Given the description of an element on the screen output the (x, y) to click on. 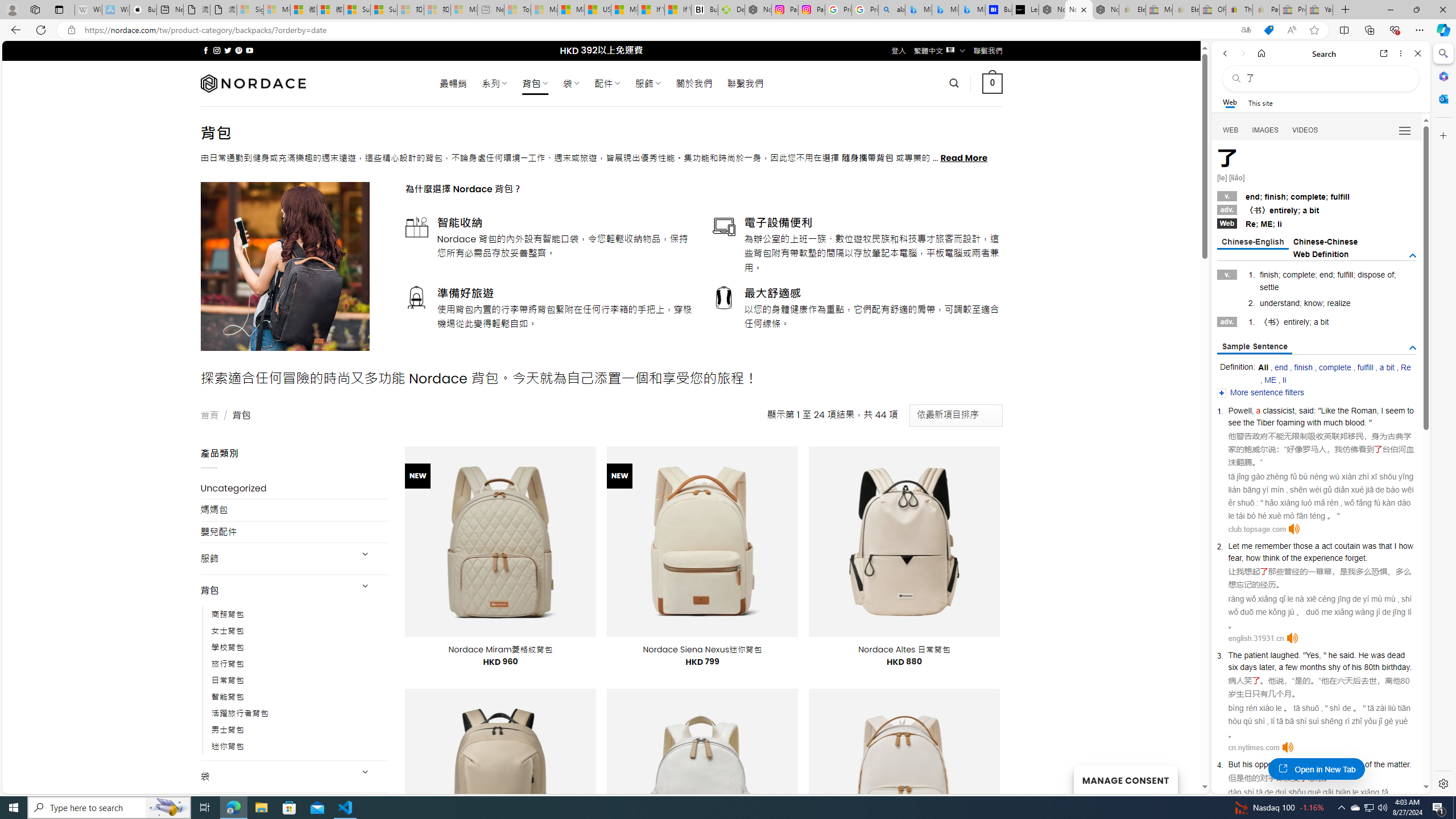
a (1316, 545)
Threats and offensive language policy | eBay (1239, 9)
 0  (992, 83)
v.end; finish; complete; fulfill (1316, 195)
Powell (1239, 410)
remember (1273, 545)
dead (1396, 655)
Yard, Garden & Outdoor Living - Sleeping (1319, 9)
